Given the description of an element on the screen output the (x, y) to click on. 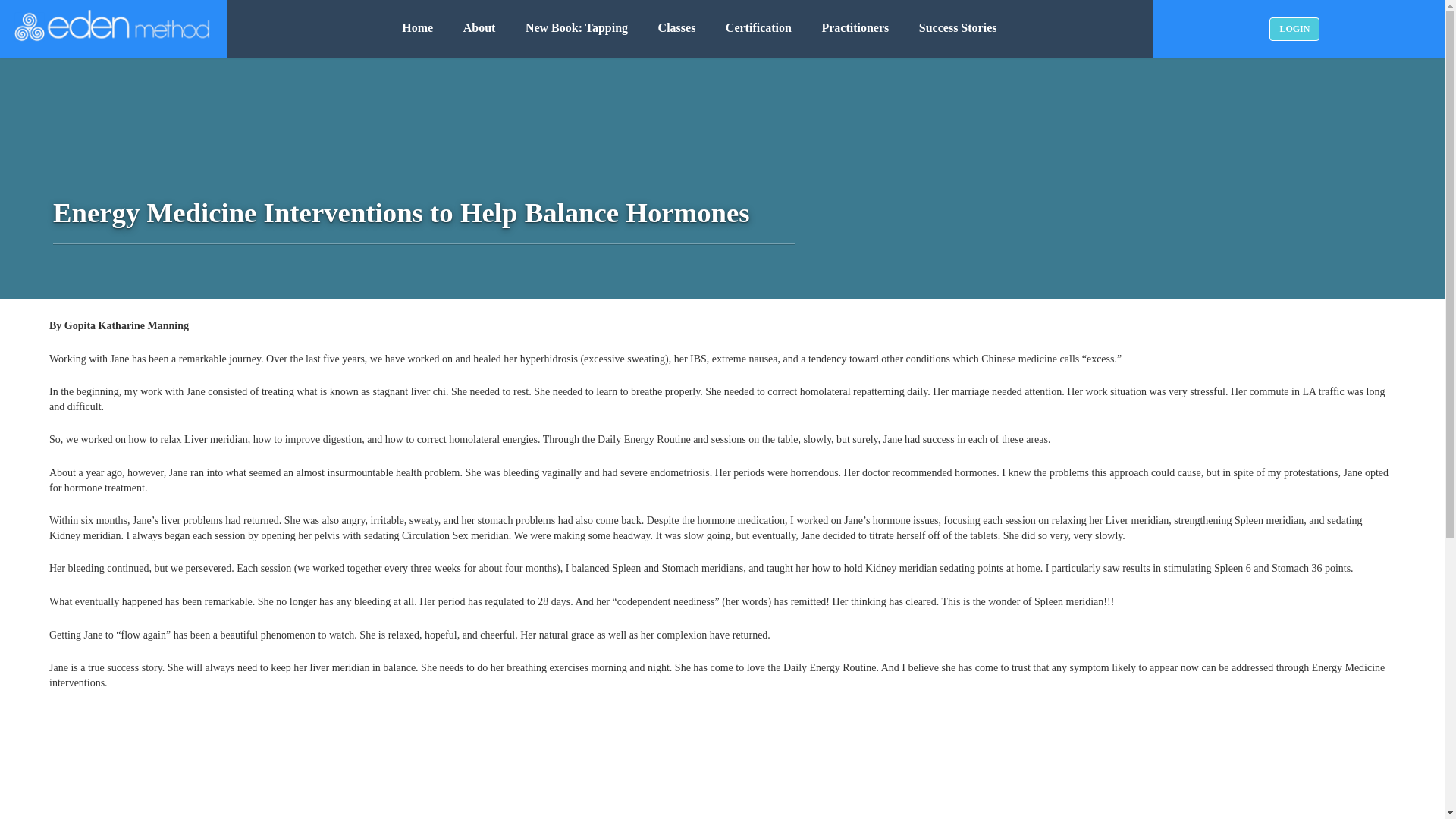
LOGIN (1294, 28)
New Book: Tapping (577, 28)
Classes (677, 28)
About (479, 28)
Success Stories (957, 28)
Certification (758, 28)
Home (417, 28)
Practitioners (855, 28)
